Given the description of an element on the screen output the (x, y) to click on. 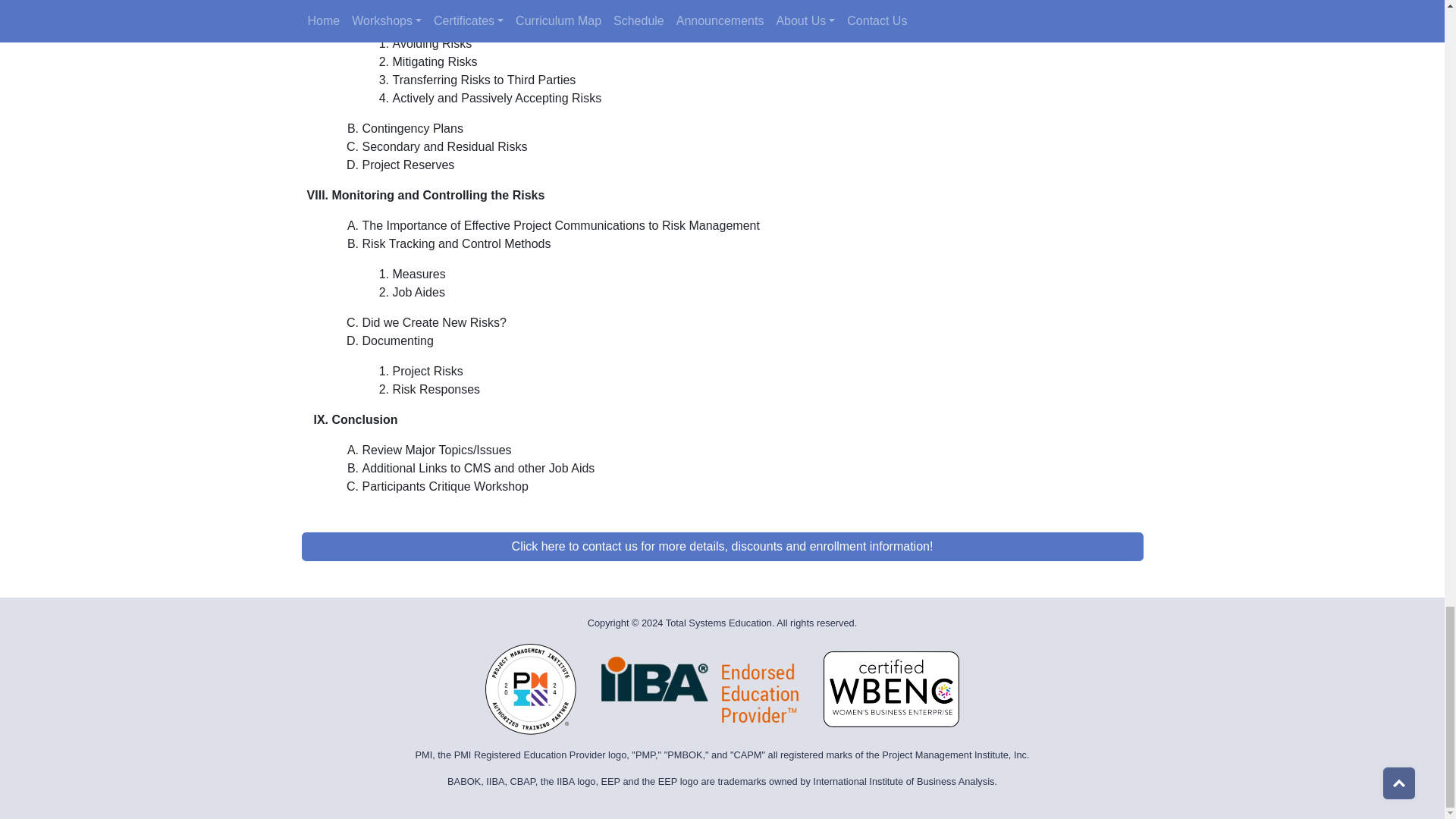
Project Management Institute Authorized Training Partner (530, 688)
IIBA Endorsed Education Provider (699, 689)
Certified Women's Business Enterprise (891, 689)
